Given the description of an element on the screen output the (x, y) to click on. 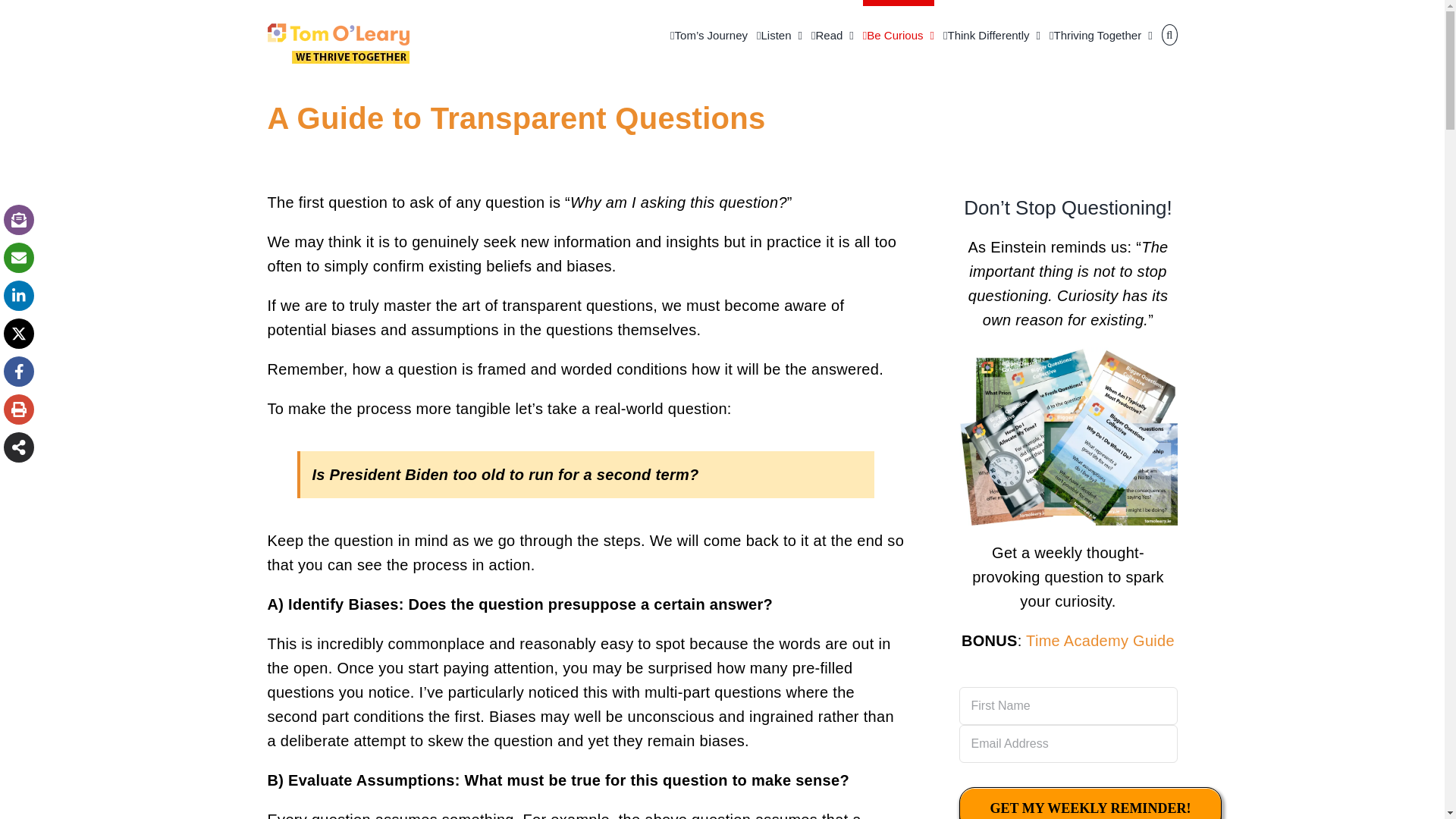
Get my Weekly Reminder! (1089, 803)
